Given the description of an element on the screen output the (x, y) to click on. 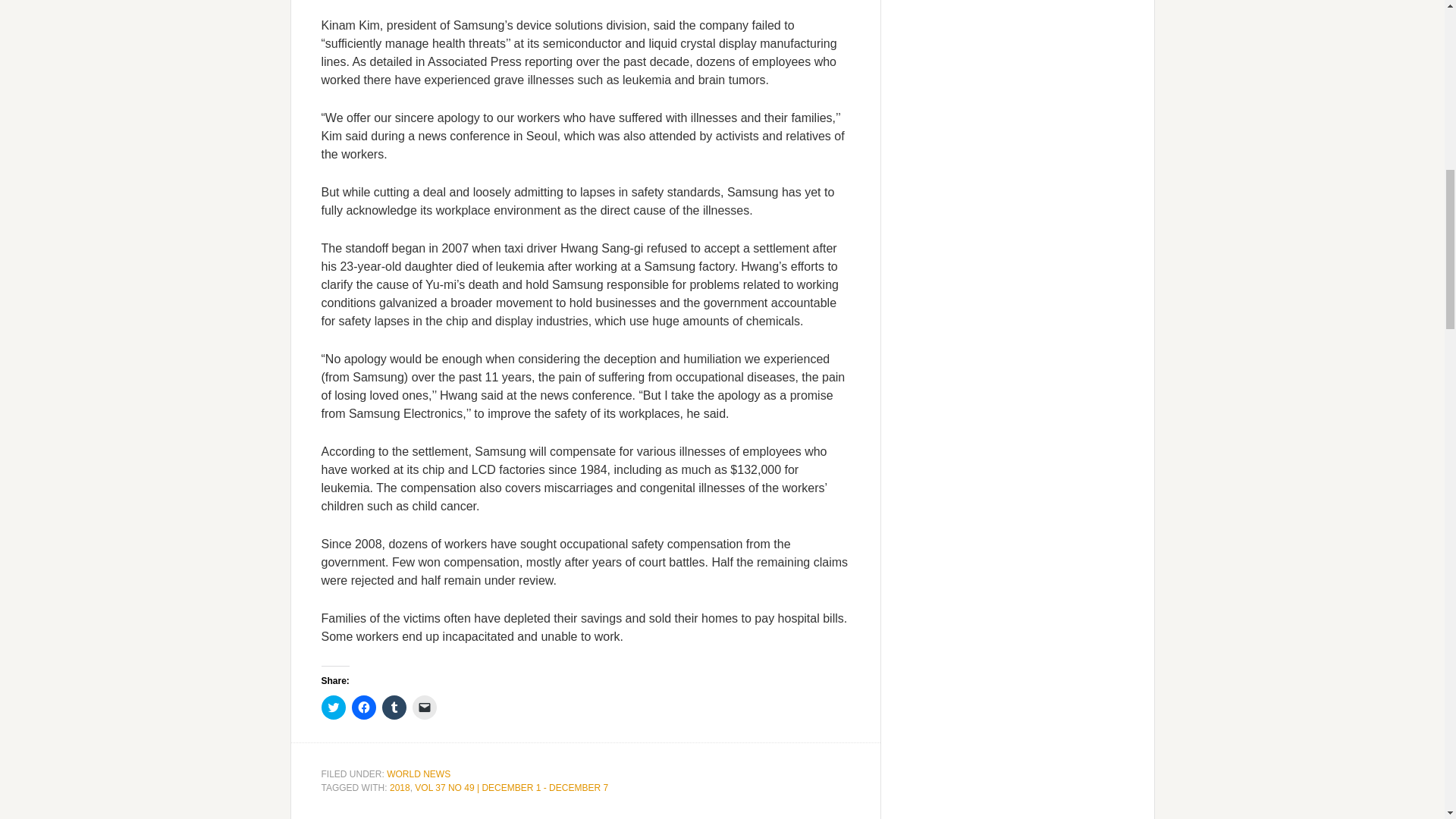
Click to share on Twitter (333, 707)
Click to email a link to a friend (424, 707)
Click to share on Tumblr (393, 707)
Click to share on Facebook (363, 707)
